Given the description of an element on the screen output the (x, y) to click on. 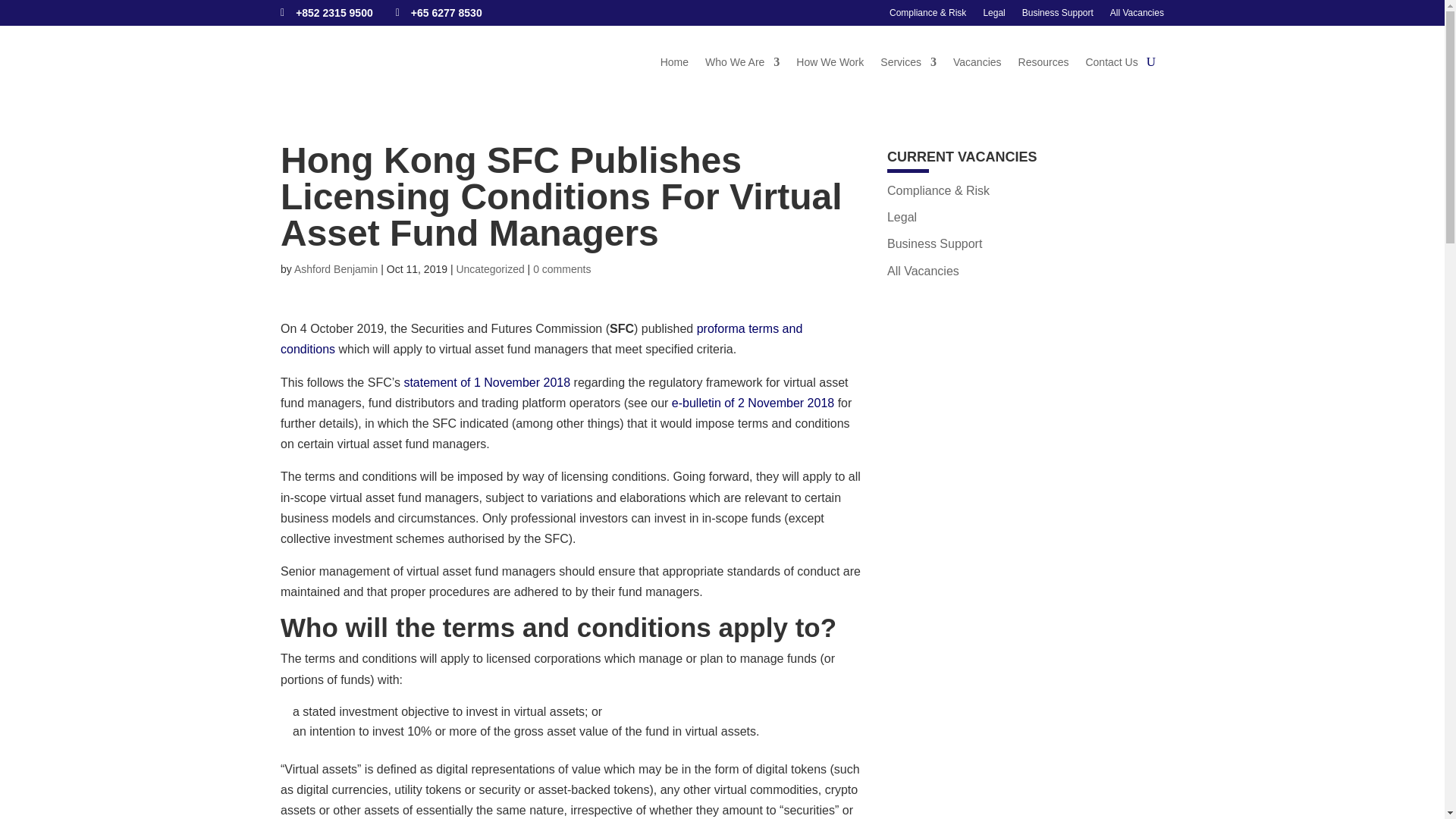
statement of 1 November 2018 (486, 382)
All Vacancies (922, 270)
e-bulletin of 2 November 2018 (752, 402)
Uncategorized (489, 268)
Legal (993, 12)
Ashford Benjamin (336, 268)
proforma terms and conditions (541, 338)
Posts by Ashford Benjamin (336, 268)
Services (908, 61)
How We Work (829, 61)
